Given the description of an element on the screen output the (x, y) to click on. 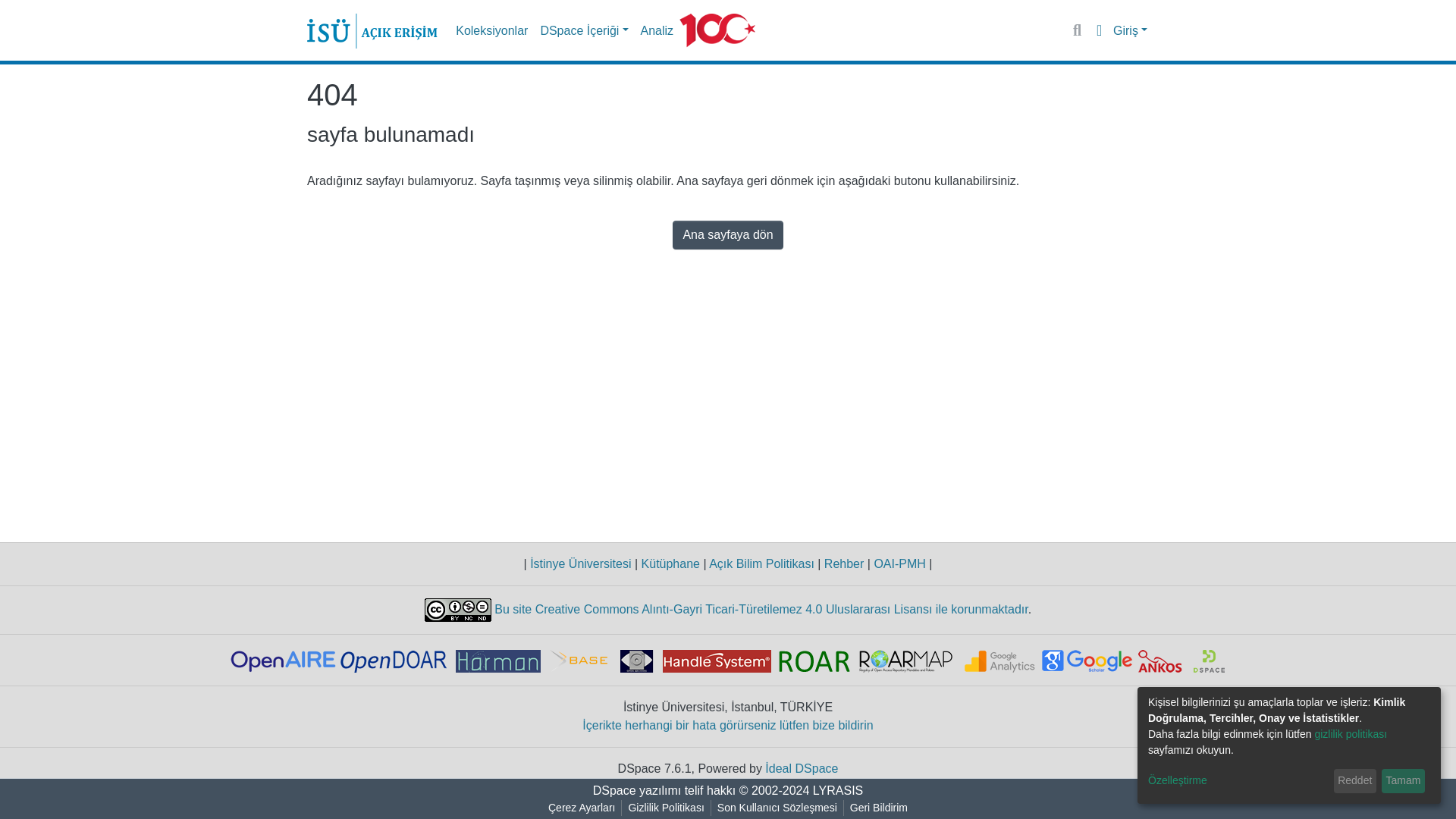
Koleksiyonlar (491, 30)
Ara (1076, 30)
Analiz (656, 30)
Rehber (843, 563)
OAI-PMH (899, 563)
Koleksiyonlar (491, 30)
